Given the description of an element on the screen output the (x, y) to click on. 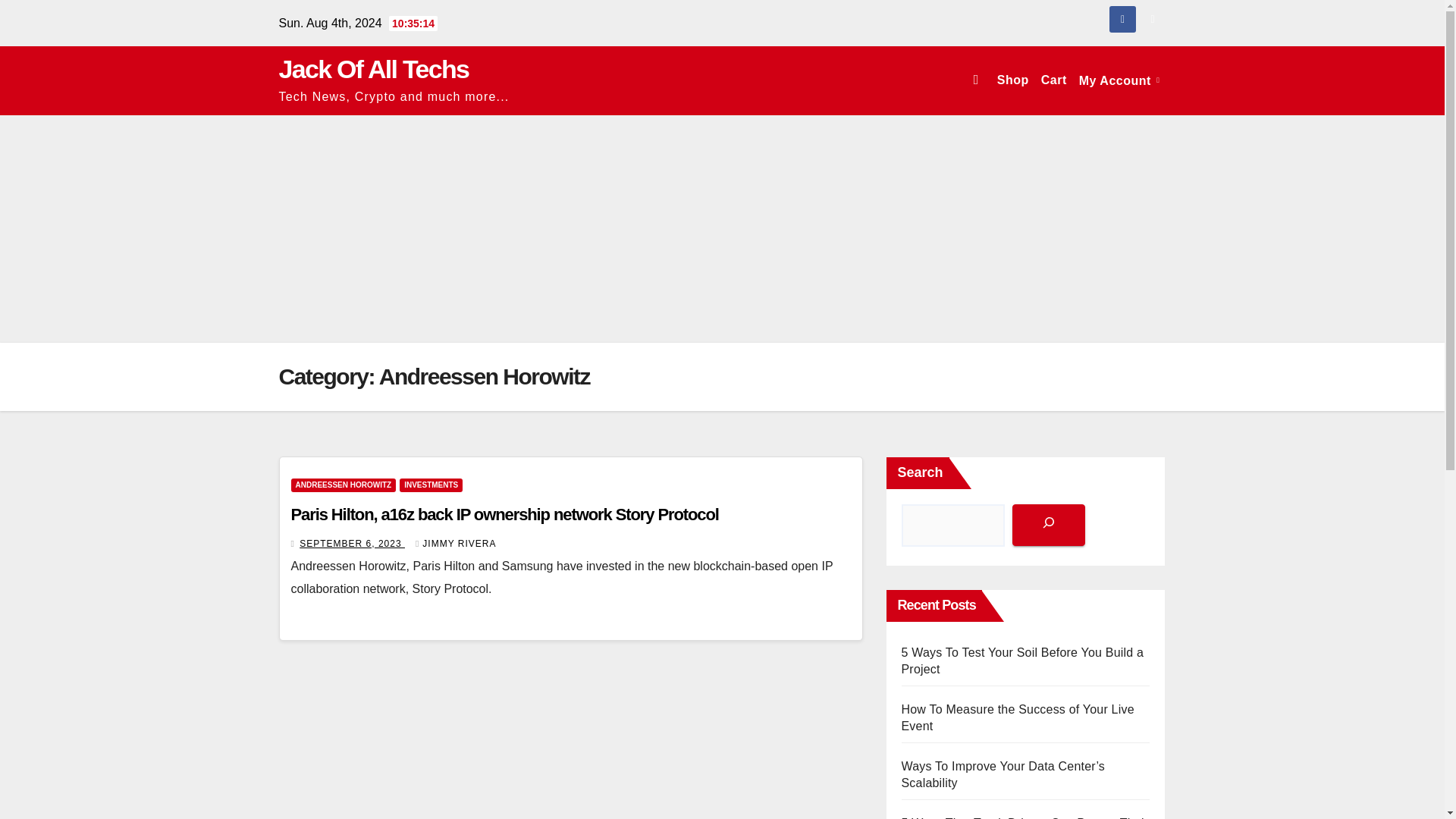
My account (1119, 80)
Paris Hilton, a16z back IP ownership network Story Protocol (505, 514)
SEPTEMBER 6, 2023 (351, 543)
INVESTMENTS (430, 485)
5 Ways To Test Your Soil Before You Build a Project (1021, 660)
My Account (1119, 80)
How To Measure the Success of Your Live Event (1017, 717)
ANDREESSEN HOROWITZ (343, 485)
Jack Of All Techs (373, 68)
JIMMY RIVERA (455, 543)
